Given the description of an element on the screen output the (x, y) to click on. 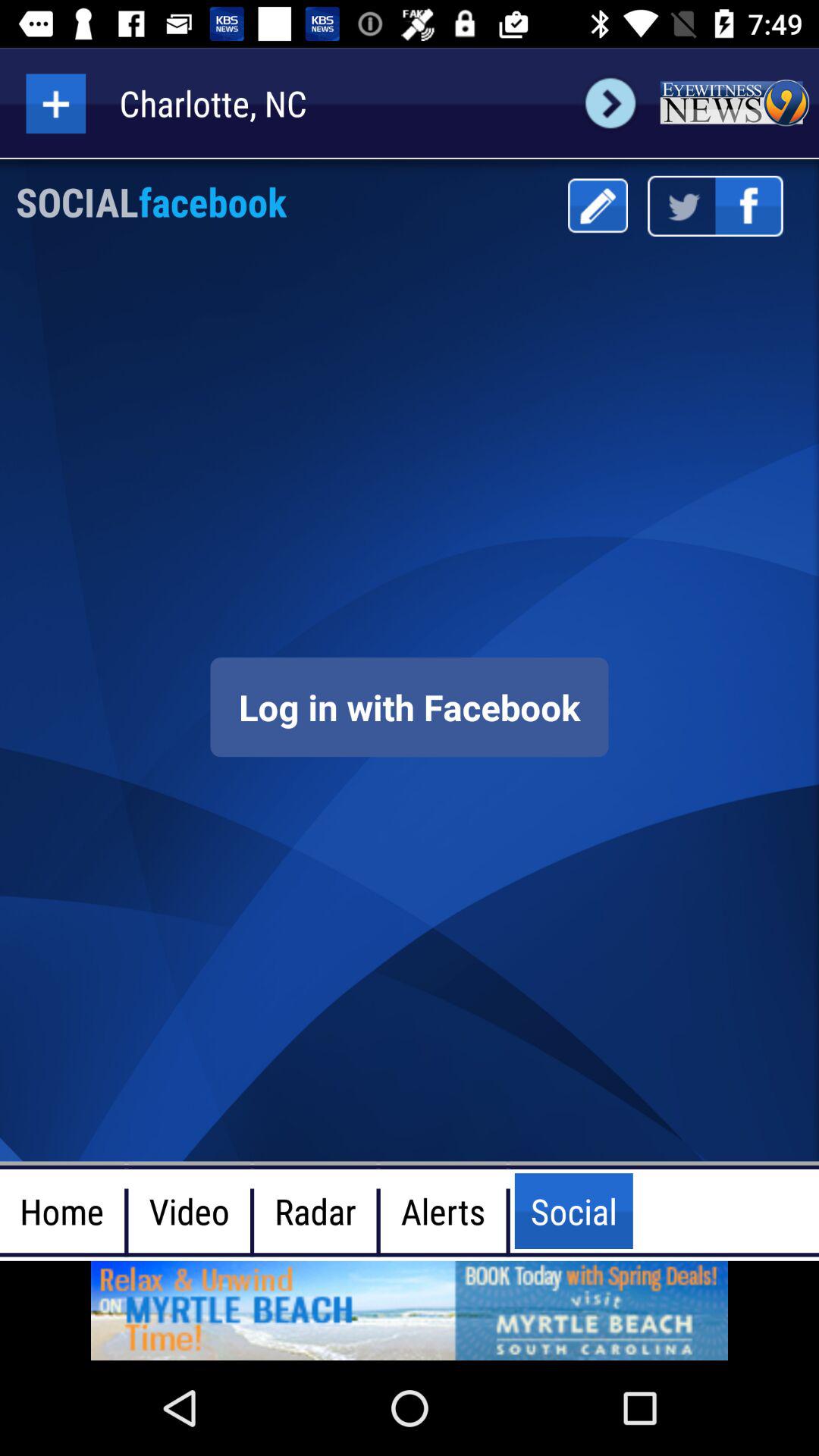
see the news (734, 103)
